Given the description of an element on the screen output the (x, y) to click on. 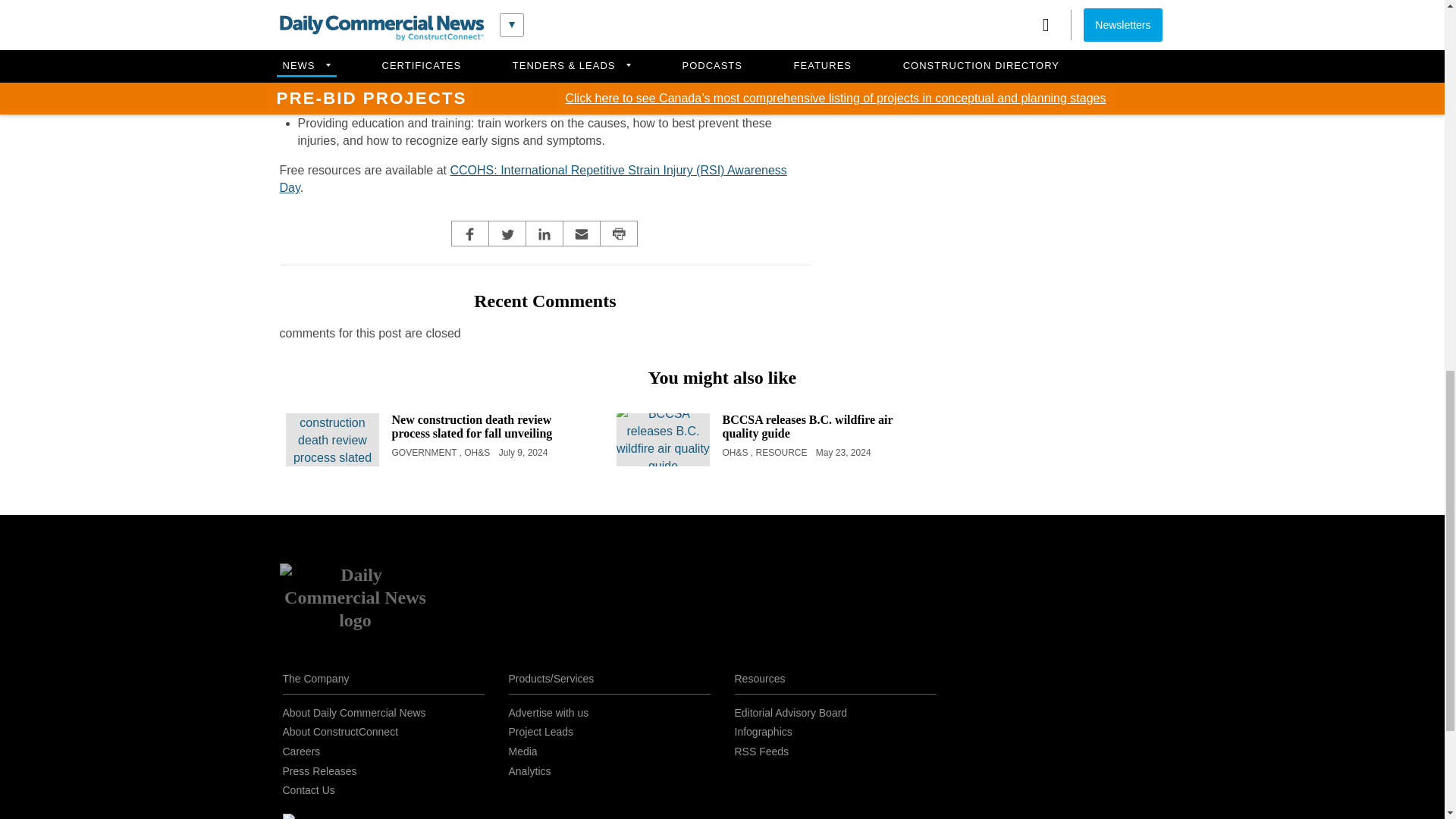
Print (619, 233)
LinkedIn (544, 234)
Twitter (506, 234)
Email (581, 234)
Facebook (470, 234)
